Given the description of an element on the screen output the (x, y) to click on. 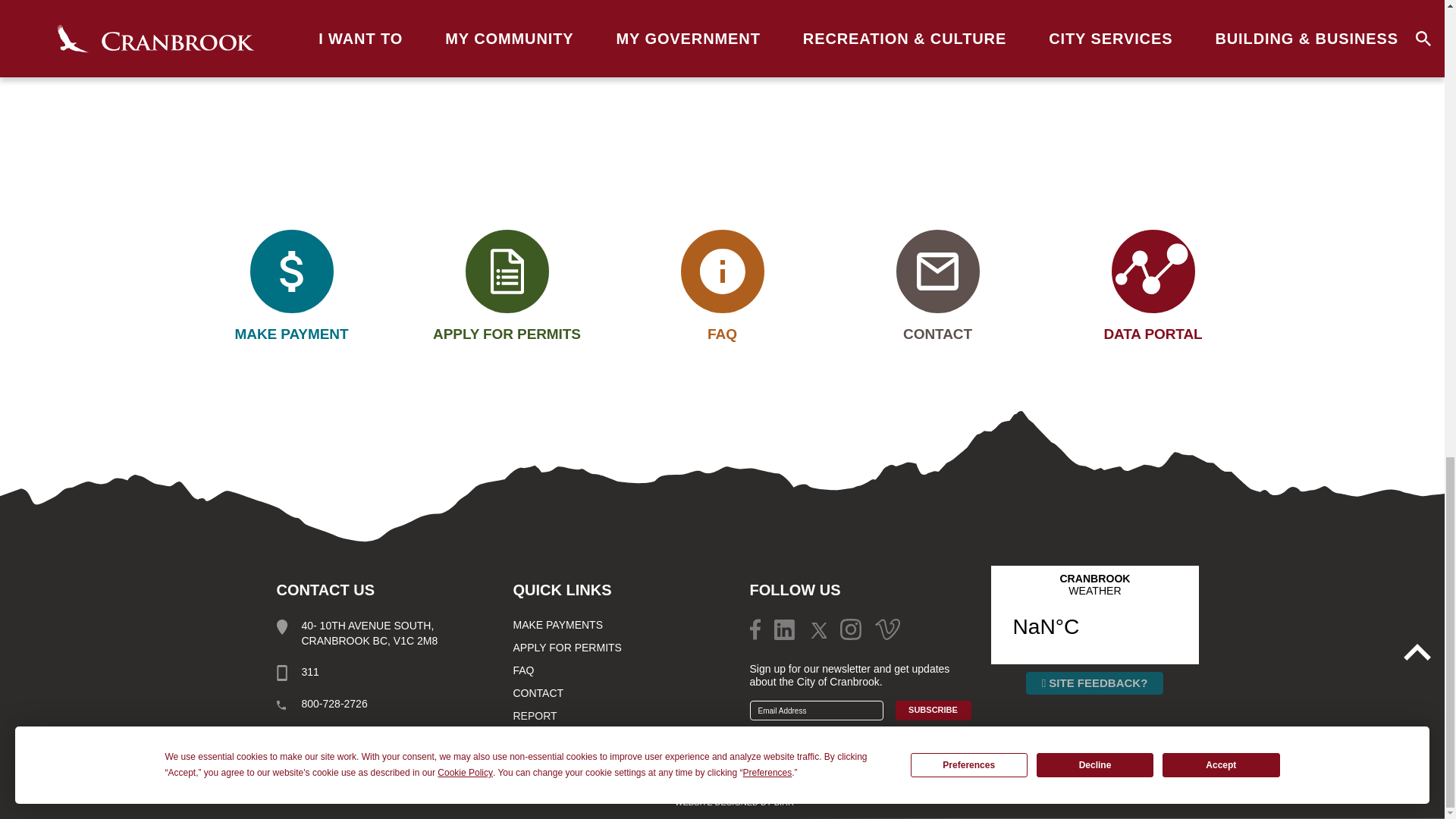
Subscribe (933, 710)
